Given the description of an element on the screen output the (x, y) to click on. 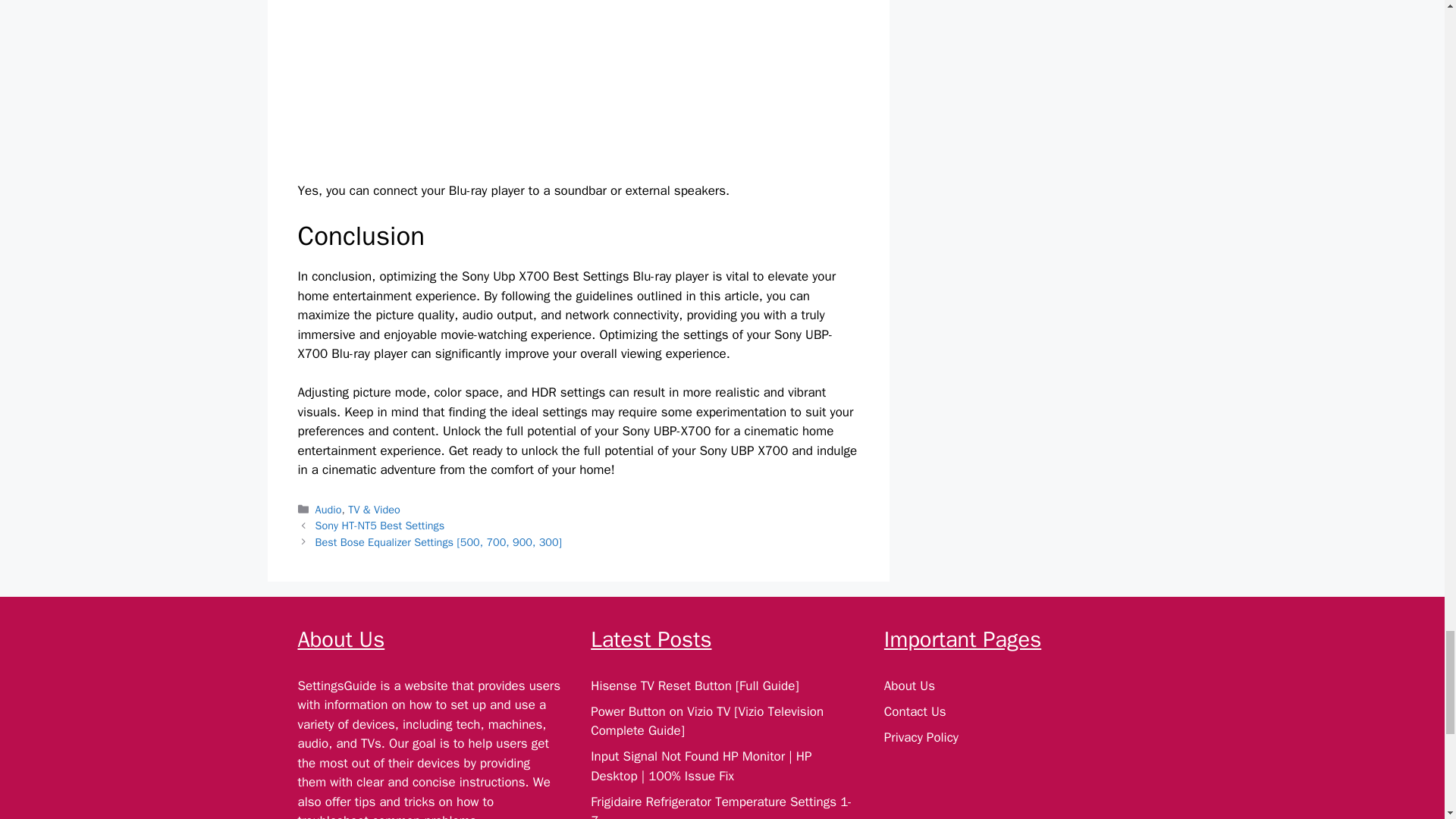
Sony HT-NT5 Best Settings (380, 525)
Audio (328, 509)
